Given the description of an element on the screen output the (x, y) to click on. 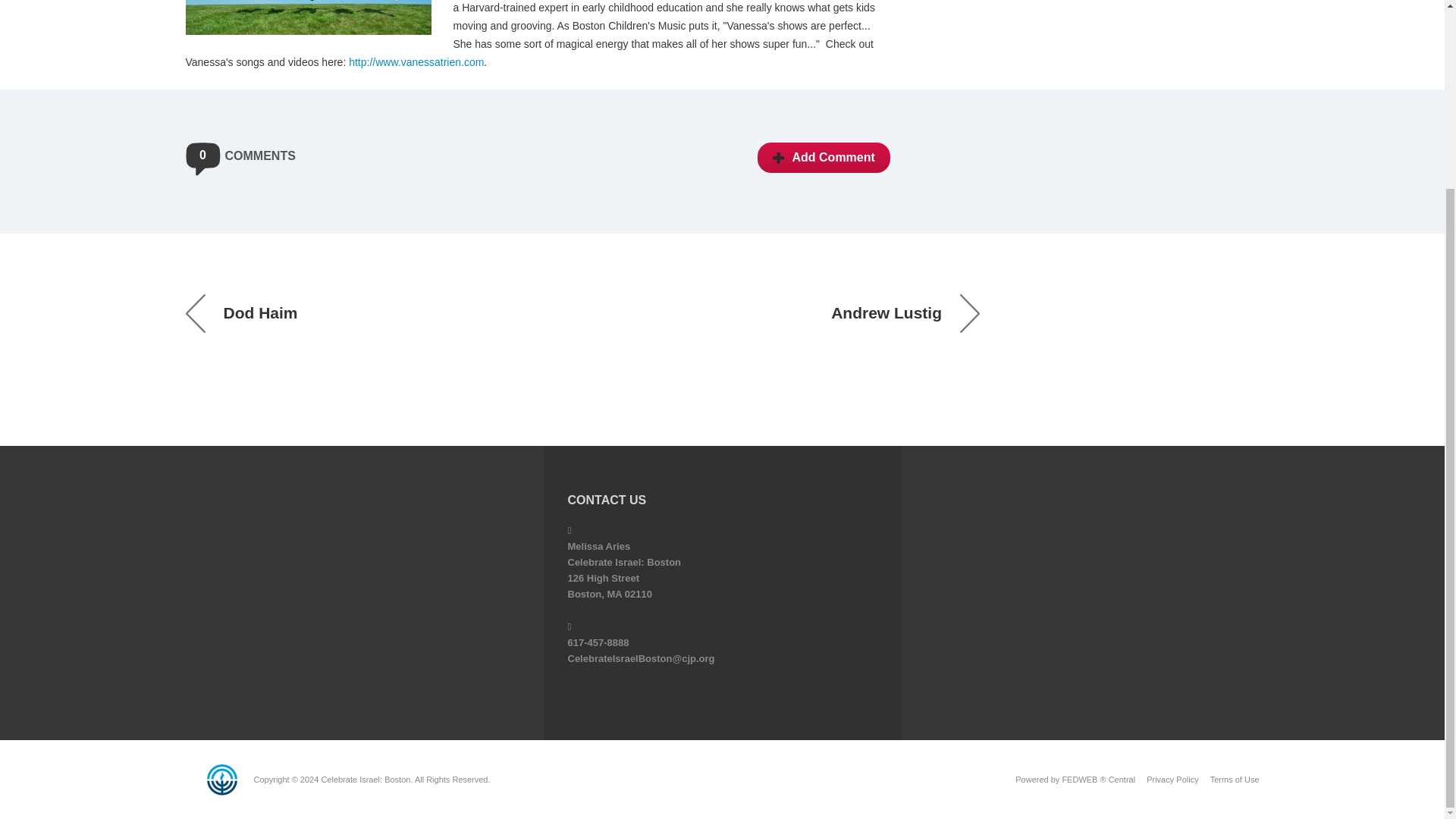
Terms of Use (1234, 779)
Andrew Lustig (905, 313)
Privacy Policy (1172, 779)
Add Comment (823, 157)
Dod Haim (240, 313)
